Given the description of an element on the screen output the (x, y) to click on. 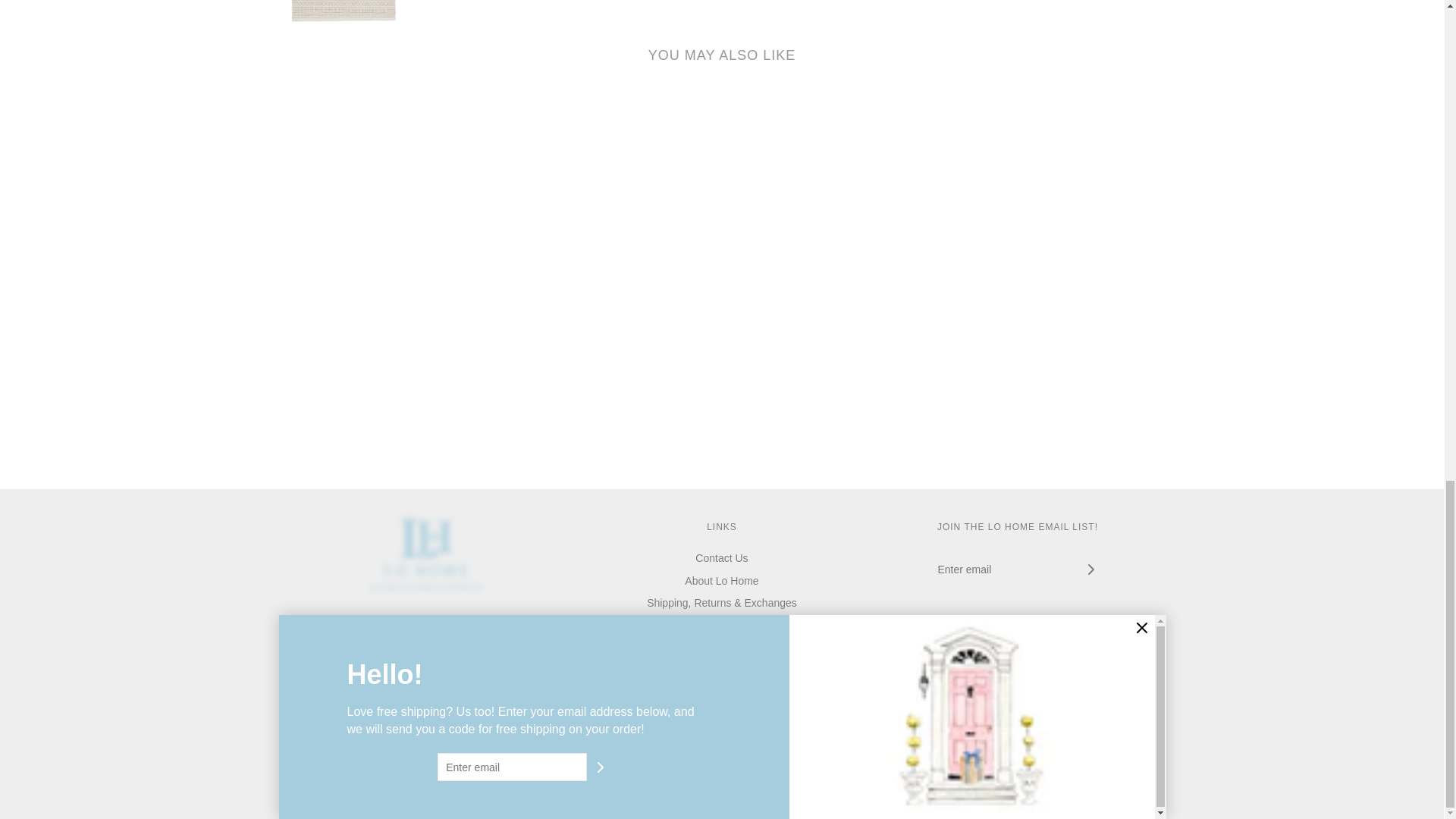
Isle Rug in Beige (342, 12)
